Given the description of an element on the screen output the (x, y) to click on. 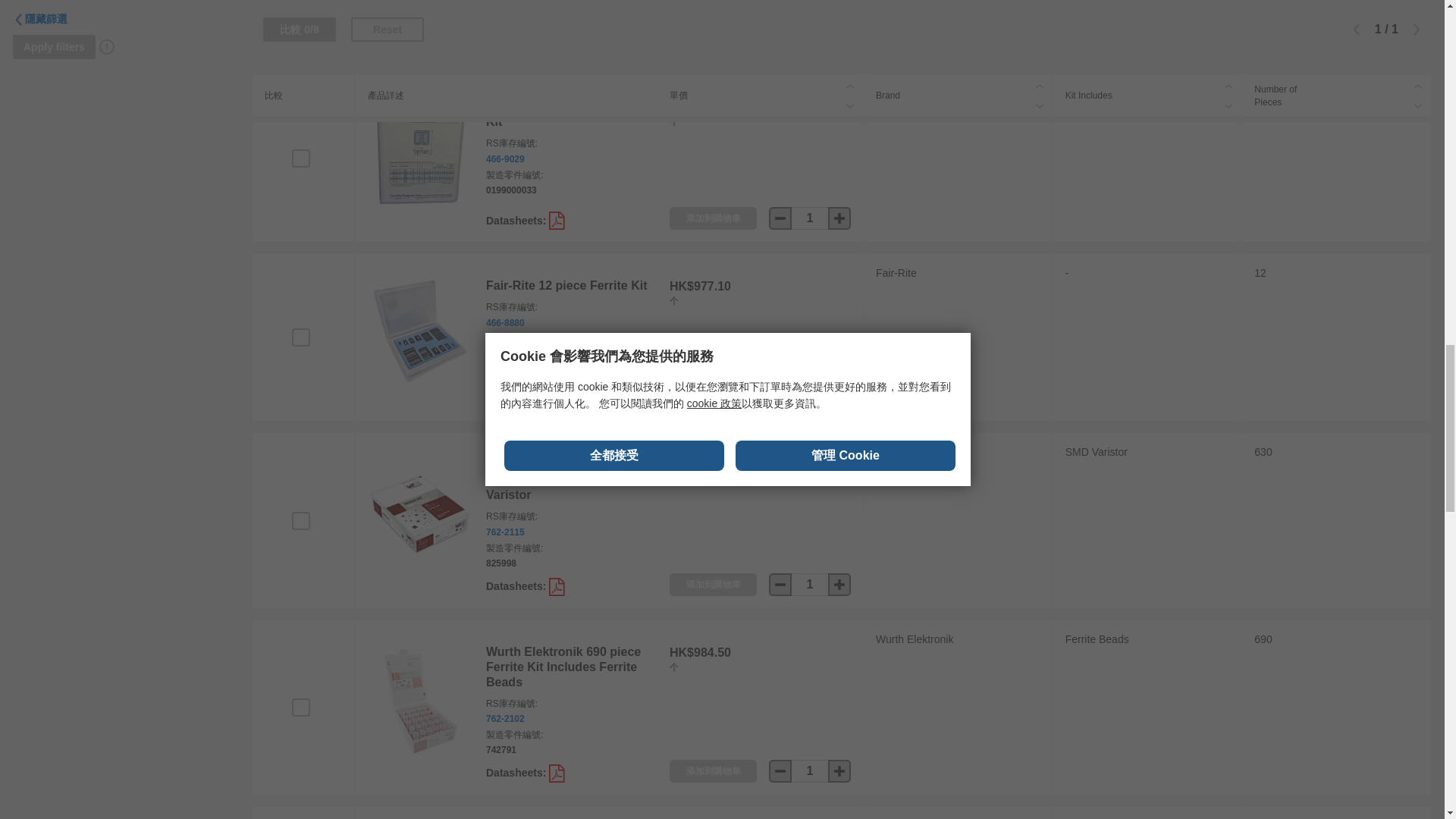
1 (810, 38)
on (299, 337)
on (299, 158)
on (299, 520)
1 (810, 396)
1 (810, 218)
